Given the description of an element on the screen output the (x, y) to click on. 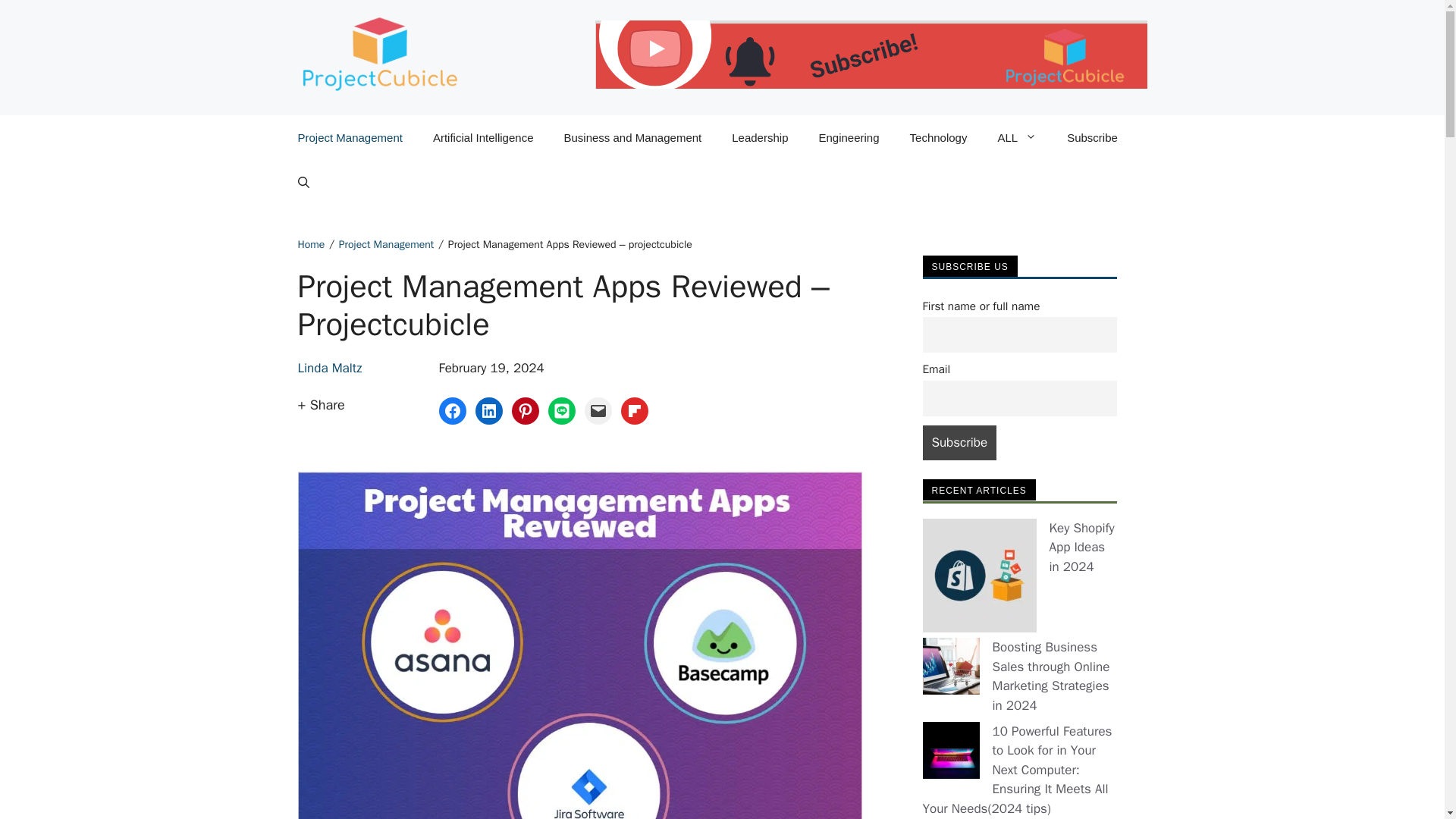
ALL (1016, 137)
Subscribe (958, 443)
Project Management (349, 137)
Business and Management (632, 137)
Technology (938, 137)
Artificial Intelligence (482, 137)
Engineering (848, 137)
Leadership (759, 137)
